Given the description of an element on the screen output the (x, y) to click on. 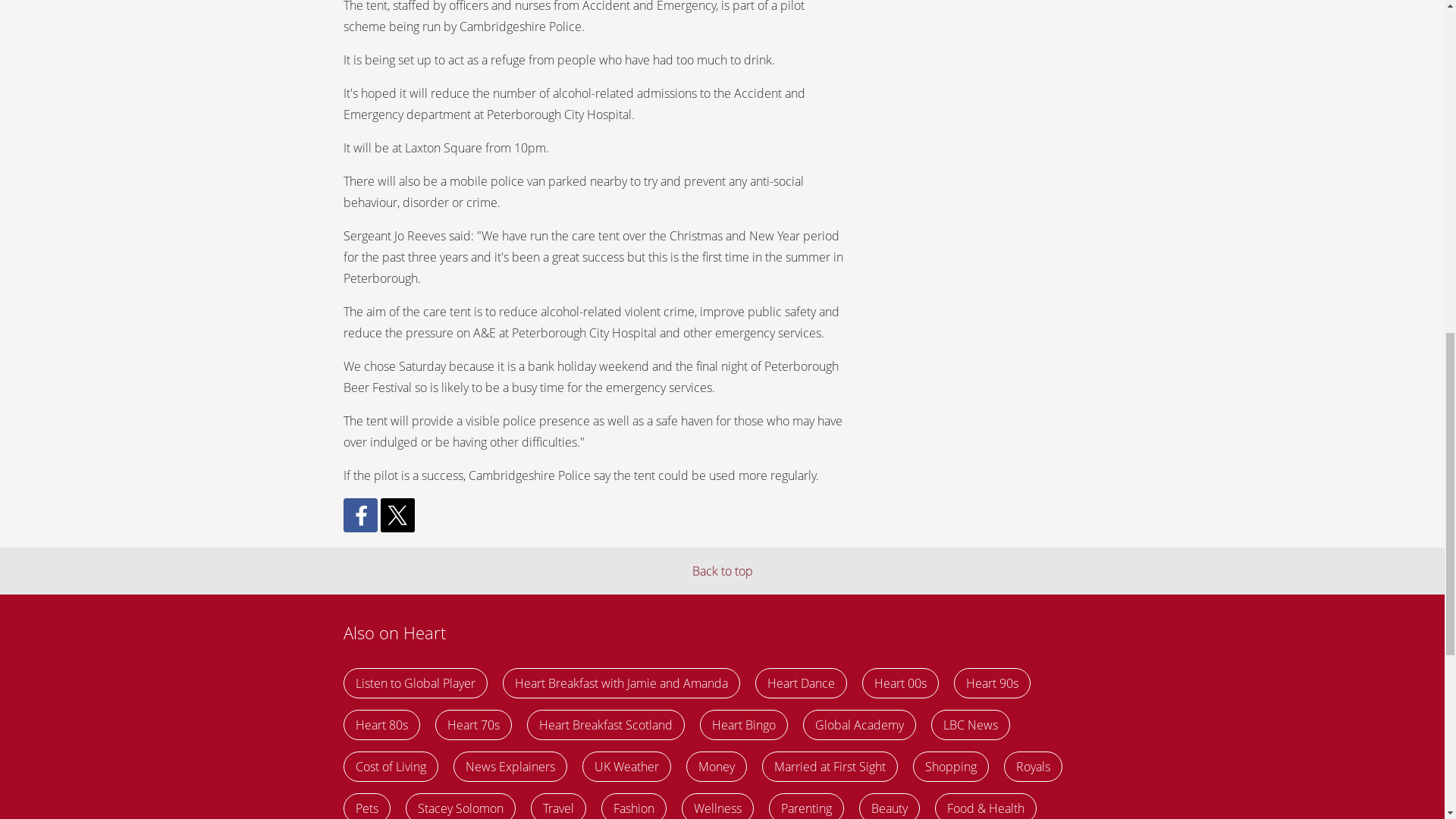
Back to top (721, 570)
